Given the description of an element on the screen output the (x, y) to click on. 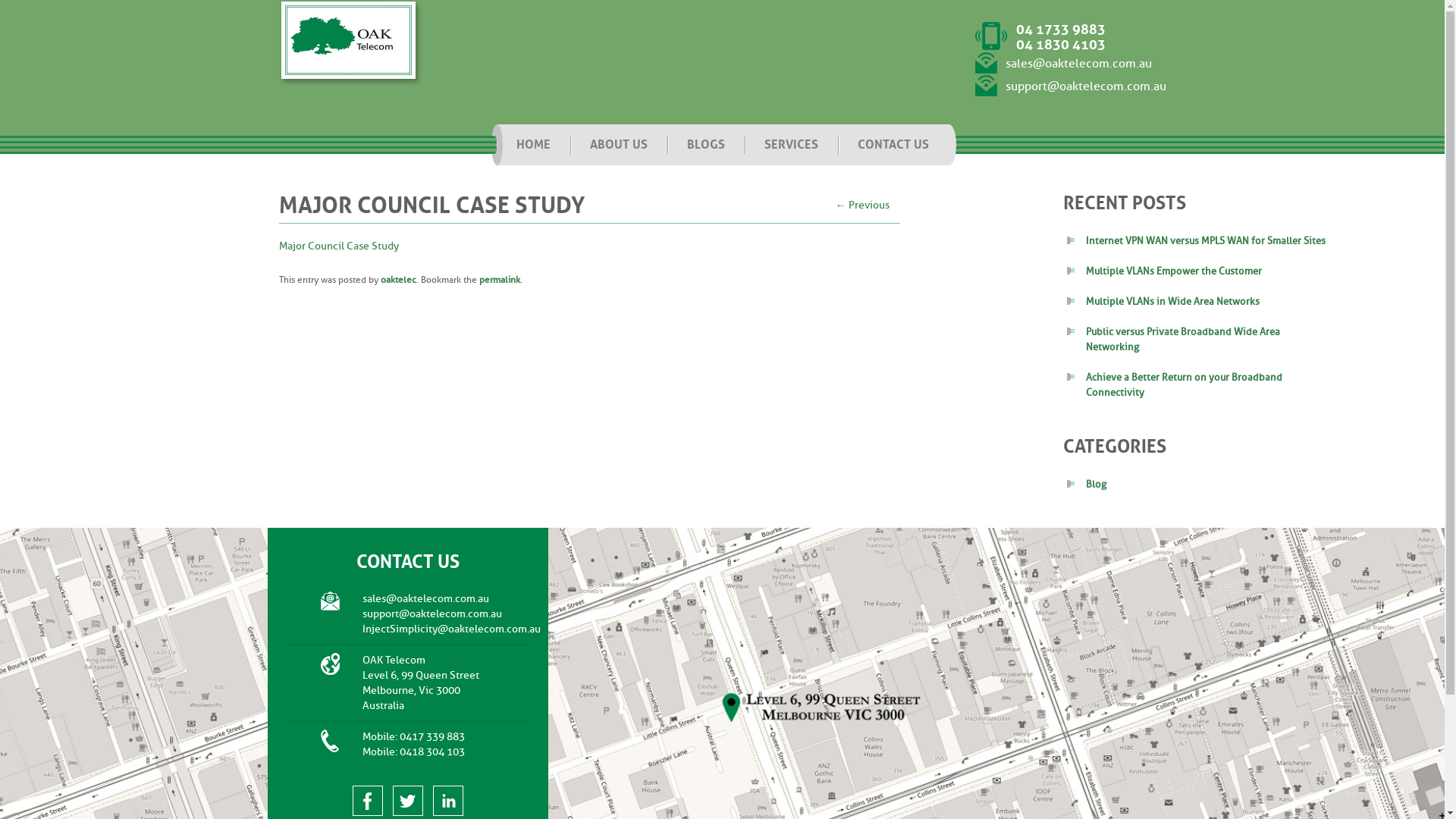
Major Council Case Study Element type: text (338, 245)
HOME
HOME Element type: text (532, 144)
Public versus Private Broadband Wide Area Networking Element type: text (1182, 339)
0418 304 103 Element type: text (431, 751)
support@oaktelecom.com.au Element type: text (1070, 86)
Achieve a Better Return on your Broadband Connectivity Element type: text (1183, 384)
Blog Element type: text (1095, 483)
twitter Element type: text (407, 800)
Internet VPN WAN versus MPLS WAN for Smaller Sites Element type: text (1205, 240)
linked in Element type: text (447, 800)
sales@oaktelecom.com.au Element type: text (425, 598)
support@oaktelecom.com.au Element type: text (432, 613)
0417 339 883 Element type: text (431, 736)
OAK Telecom Element type: hover (350, 43)
oaktelec Element type: text (398, 279)
SERVICES
SERVICES Element type: text (790, 144)
permalink Element type: text (499, 279)
CONTACT US
CONTACT US Element type: text (892, 144)
Multiple VLANs Empower the Customer Element type: text (1173, 270)
InjectSimplicity@oaktelecom.com.au Element type: text (451, 628)
BLOGS
BLOGS Element type: text (705, 144)
04 1830 4103 Element type: text (1060, 44)
ABOUT US
ABOUT US Element type: text (618, 144)
facebook Element type: text (366, 800)
Multiple VLANs in Wide Area Networks Element type: text (1172, 300)
04 1733 9883 Element type: text (1060, 29)
sales@oaktelecom.com.au Element type: text (1063, 63)
